Given the description of an element on the screen output the (x, y) to click on. 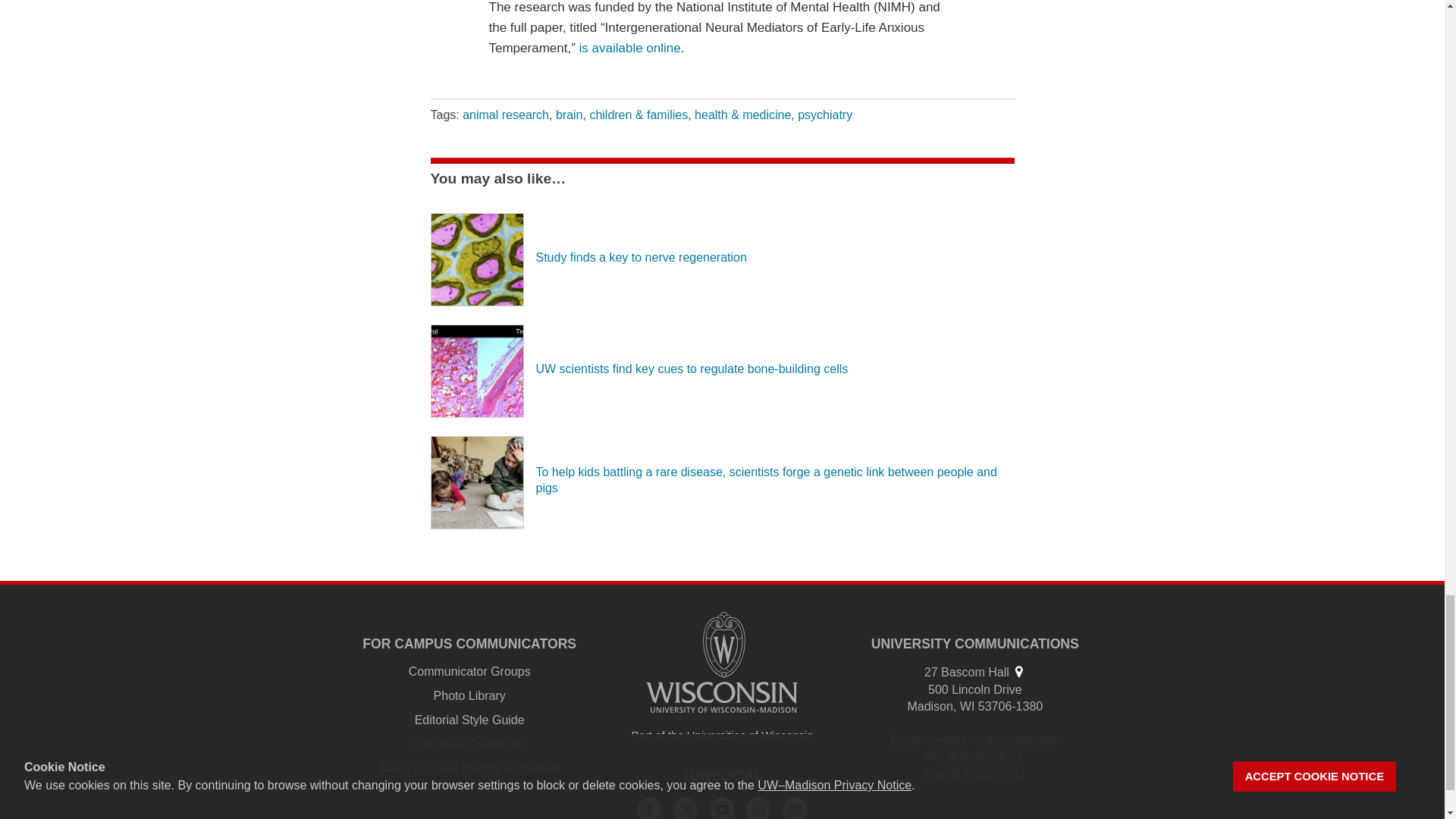
Instagram (794, 807)
Wisconsin (967, 706)
is available online (630, 47)
phone (934, 757)
Social media links (722, 775)
animal research (505, 114)
brain (569, 114)
Linked In (757, 807)
University logo that links to main university website (721, 661)
Facebook (649, 807)
View on campus map (1018, 671)
YouTube (721, 807)
psychiatry (824, 114)
X, formerly Twitter (684, 807)
